Given the description of an element on the screen output the (x, y) to click on. 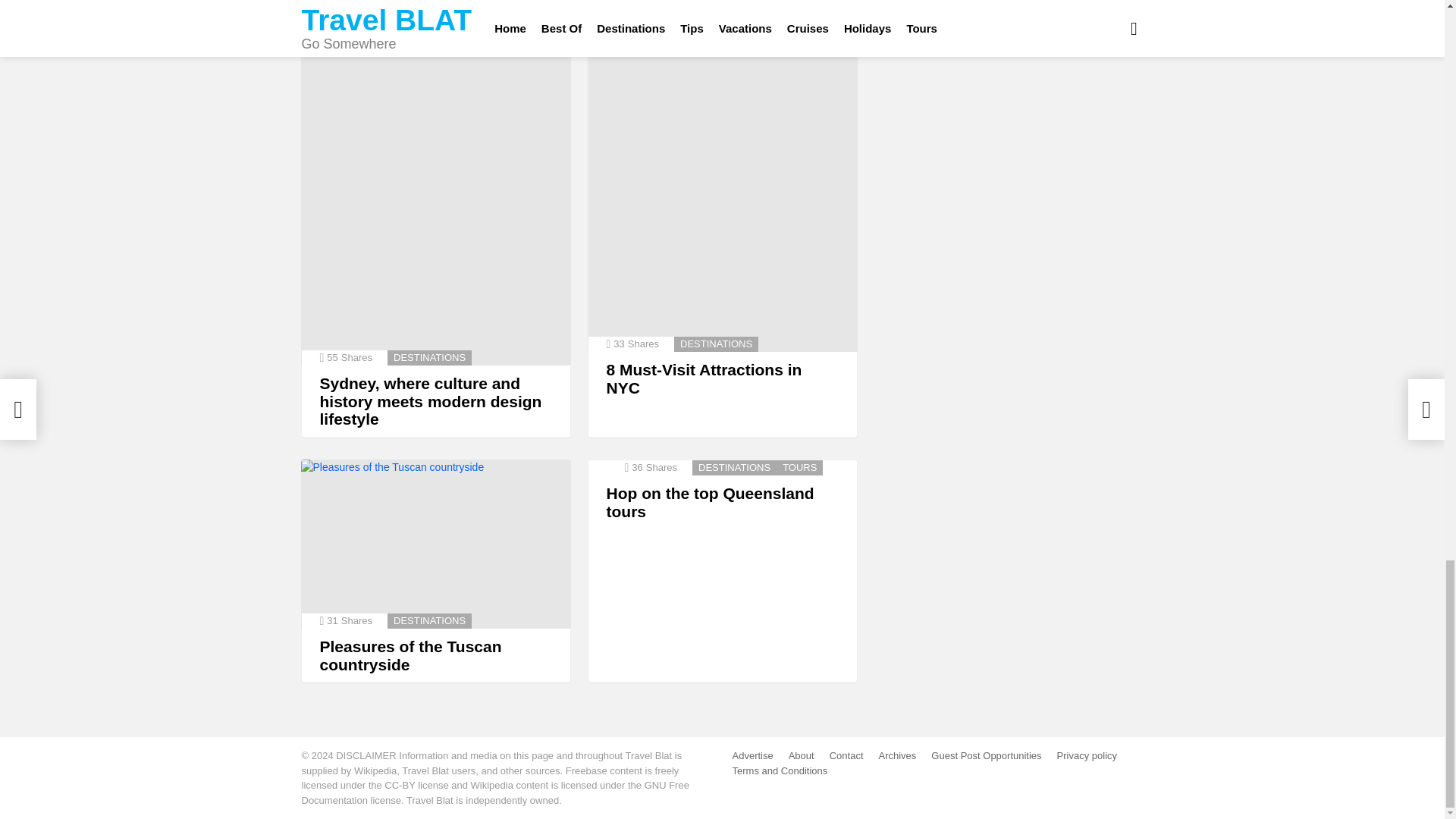
DESTINATIONS (429, 357)
Pleasures of the Tuscan countryside (434, 543)
